Given the description of an element on the screen output the (x, y) to click on. 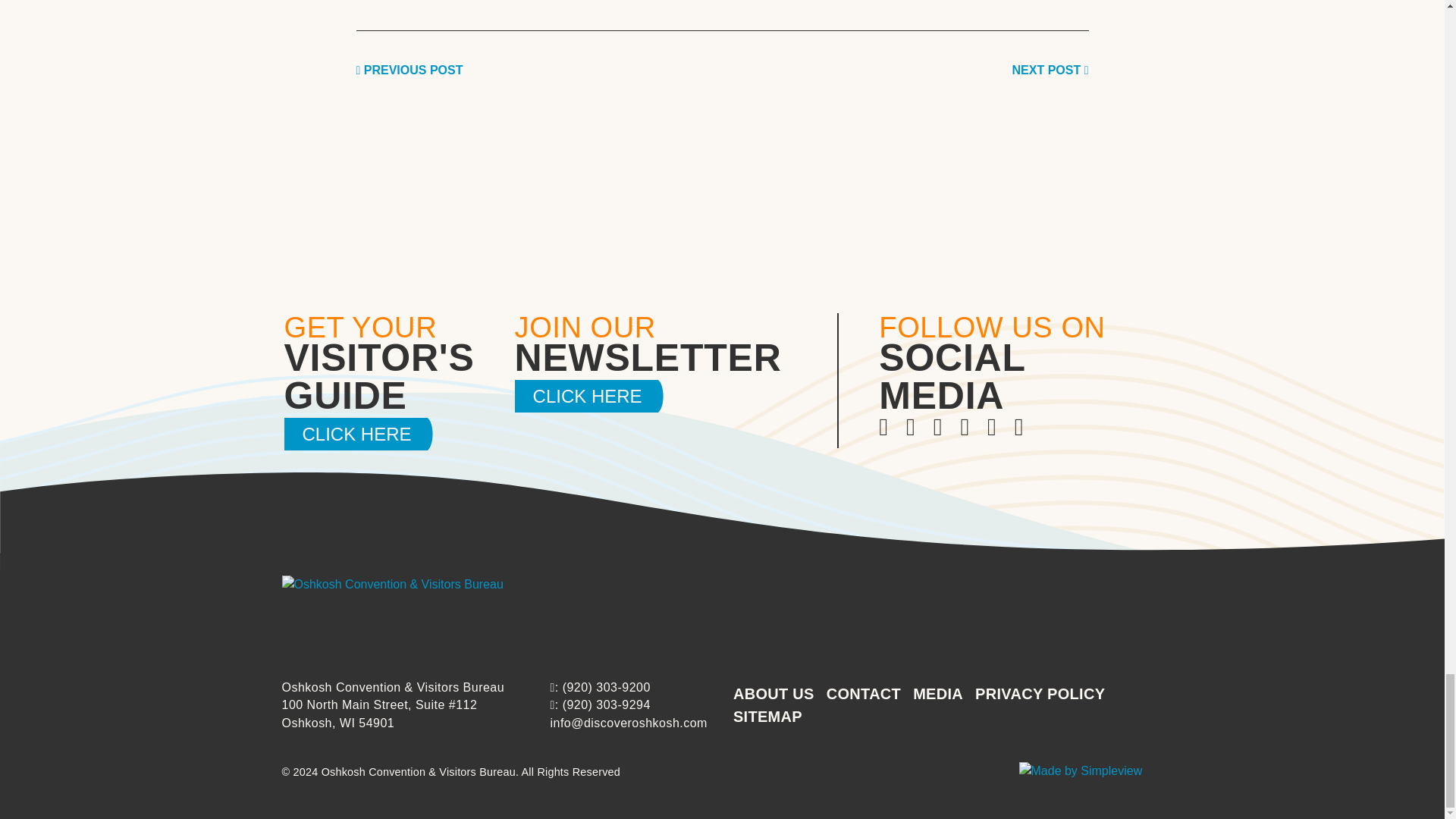
Contact (864, 693)
Celebrate National Cocktail Day in Oshkosh (1050, 70)
About Us (773, 693)
Privacy Policy (1040, 693)
Media (937, 693)
Sitemap (767, 716)
